Given the description of an element on the screen output the (x, y) to click on. 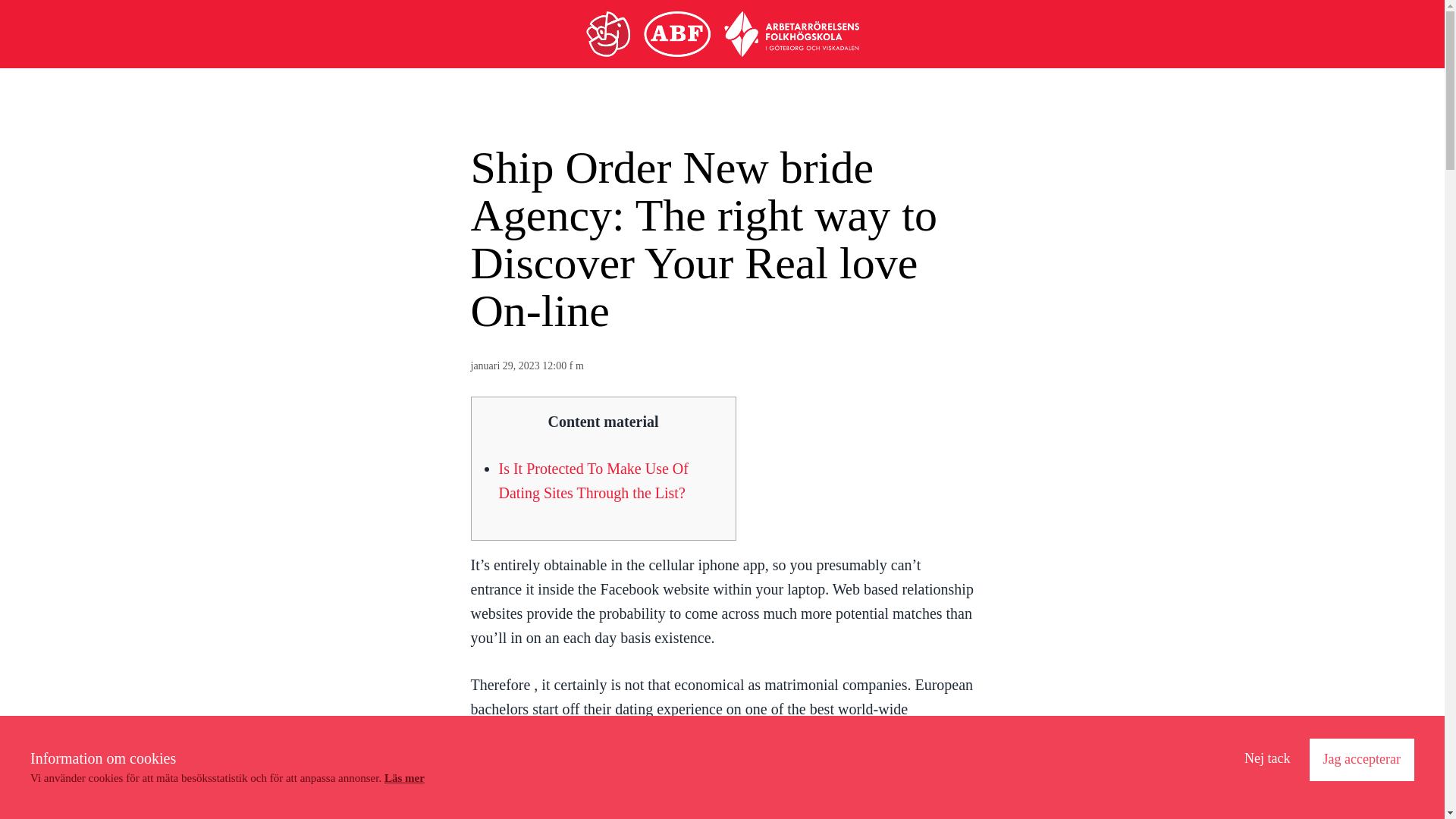
Jag accepterar (1360, 759)
Nej tack (1266, 758)
